Given the description of an element on the screen output the (x, y) to click on. 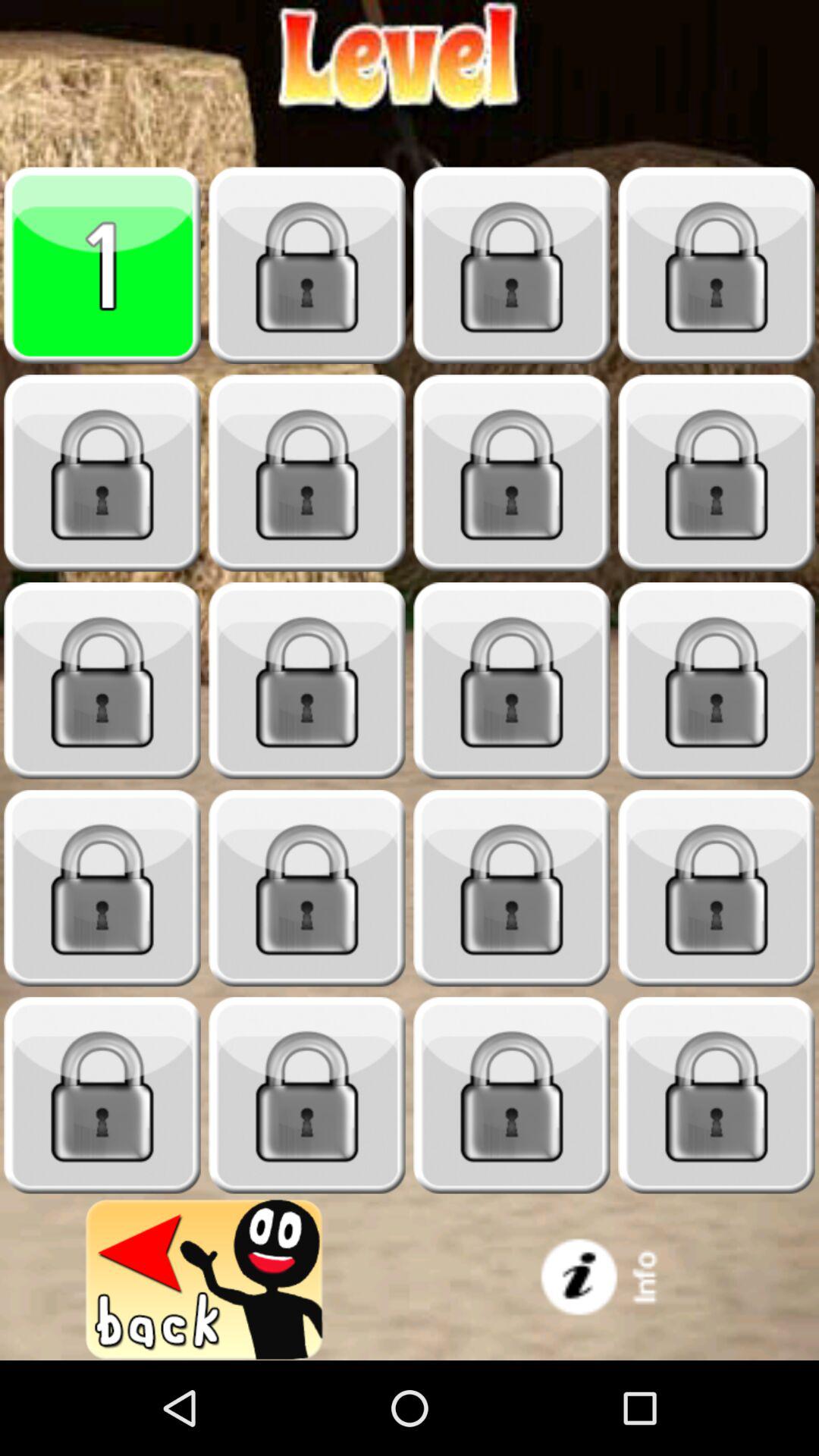
get info (614, 1279)
